Given the description of an element on the screen output the (x, y) to click on. 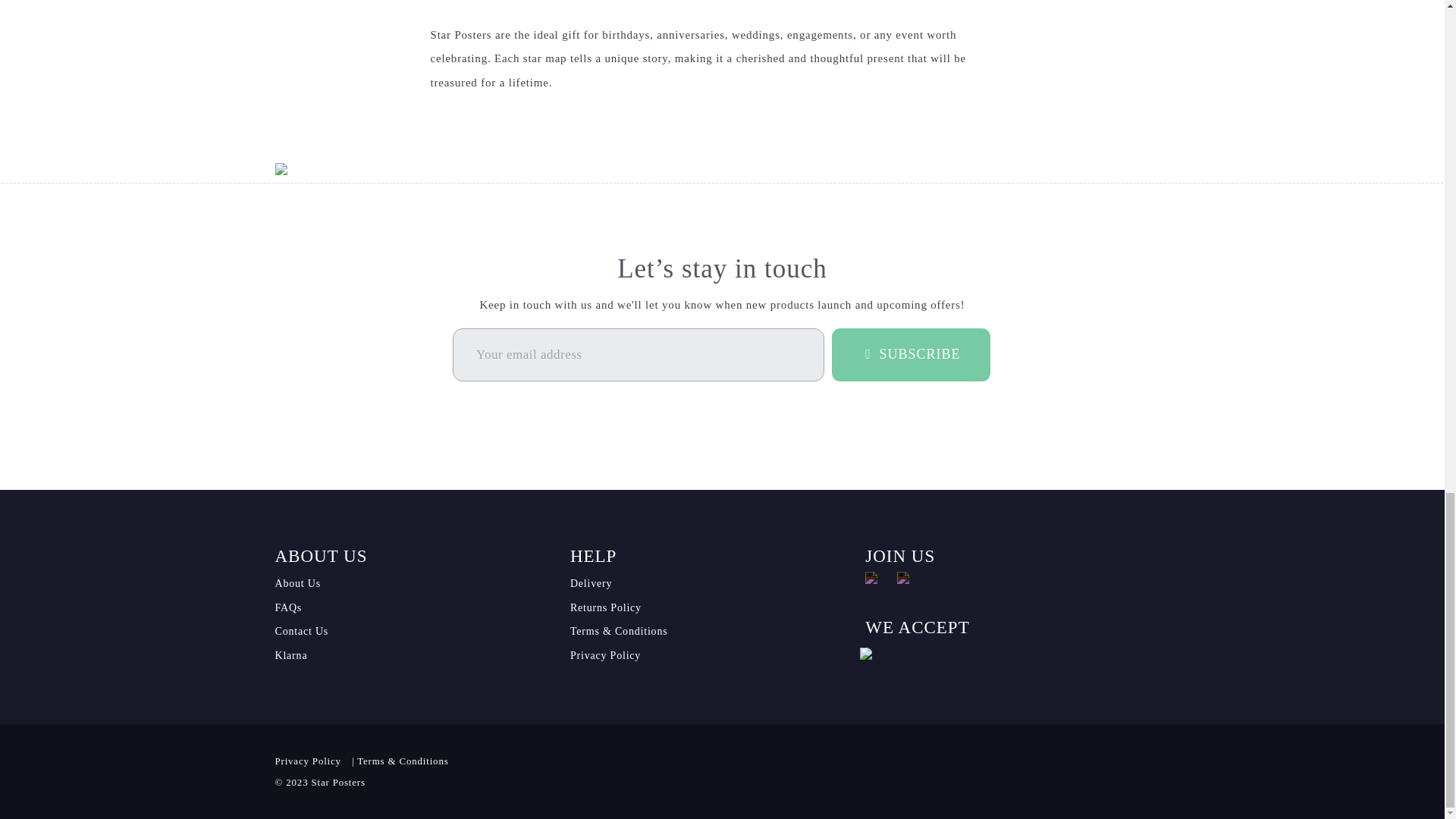
About Us (297, 583)
Contact Us (302, 631)
SUBSCRIBE (910, 354)
Privacy Policy (605, 655)
Delivery (590, 583)
FAQs (288, 607)
Klarna (291, 655)
Returns Policy (606, 607)
